Given the description of an element on the screen output the (x, y) to click on. 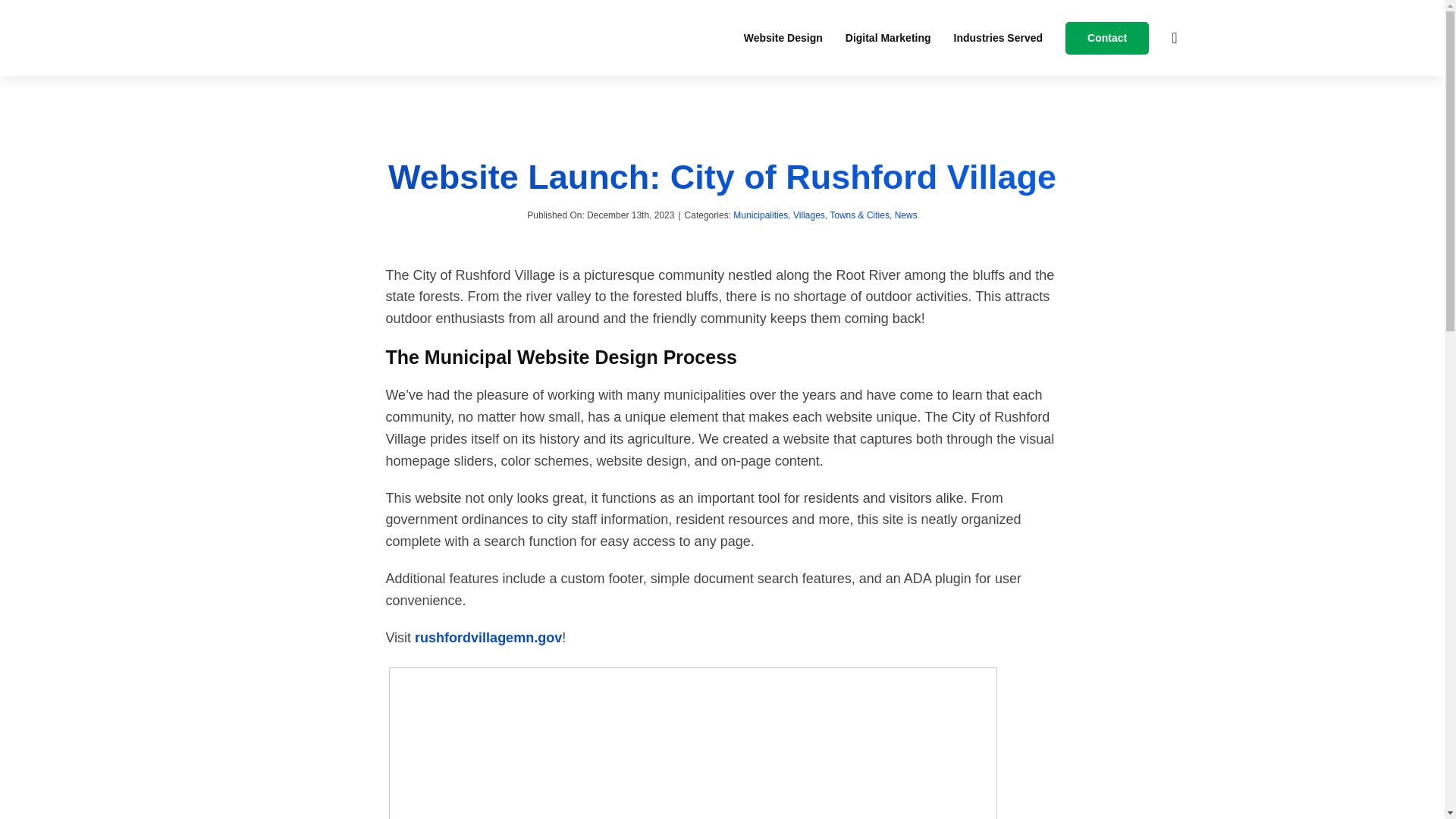
Industries Served (998, 38)
Contact (1106, 38)
Website Design (783, 38)
Digital Marketing (888, 38)
